Given the description of an element on the screen output the (x, y) to click on. 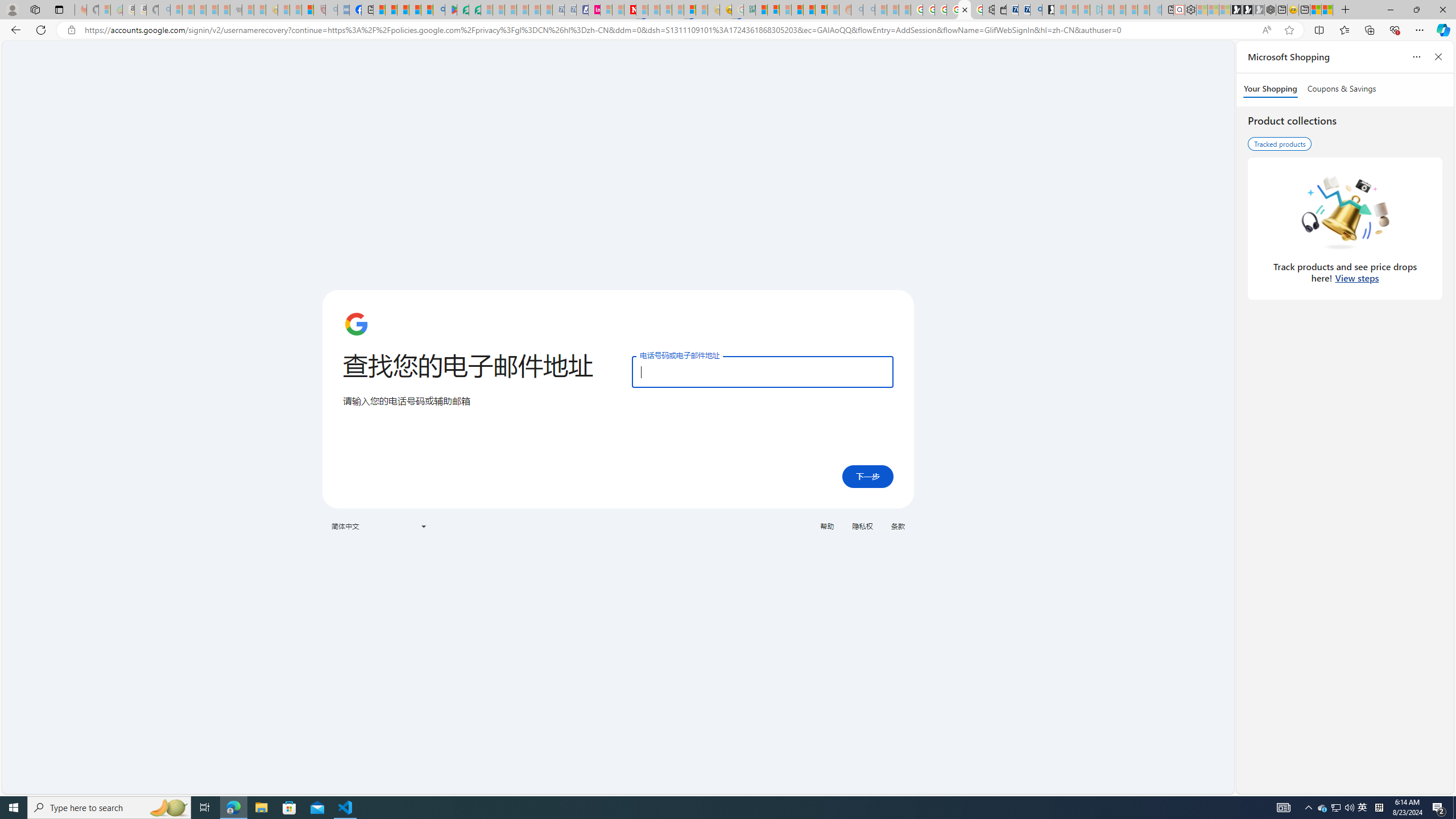
Local - MSN (307, 9)
Class: VfPpkd-t08AT-Bz112c-Bd00G (423, 526)
